Given the description of an element on the screen output the (x, y) to click on. 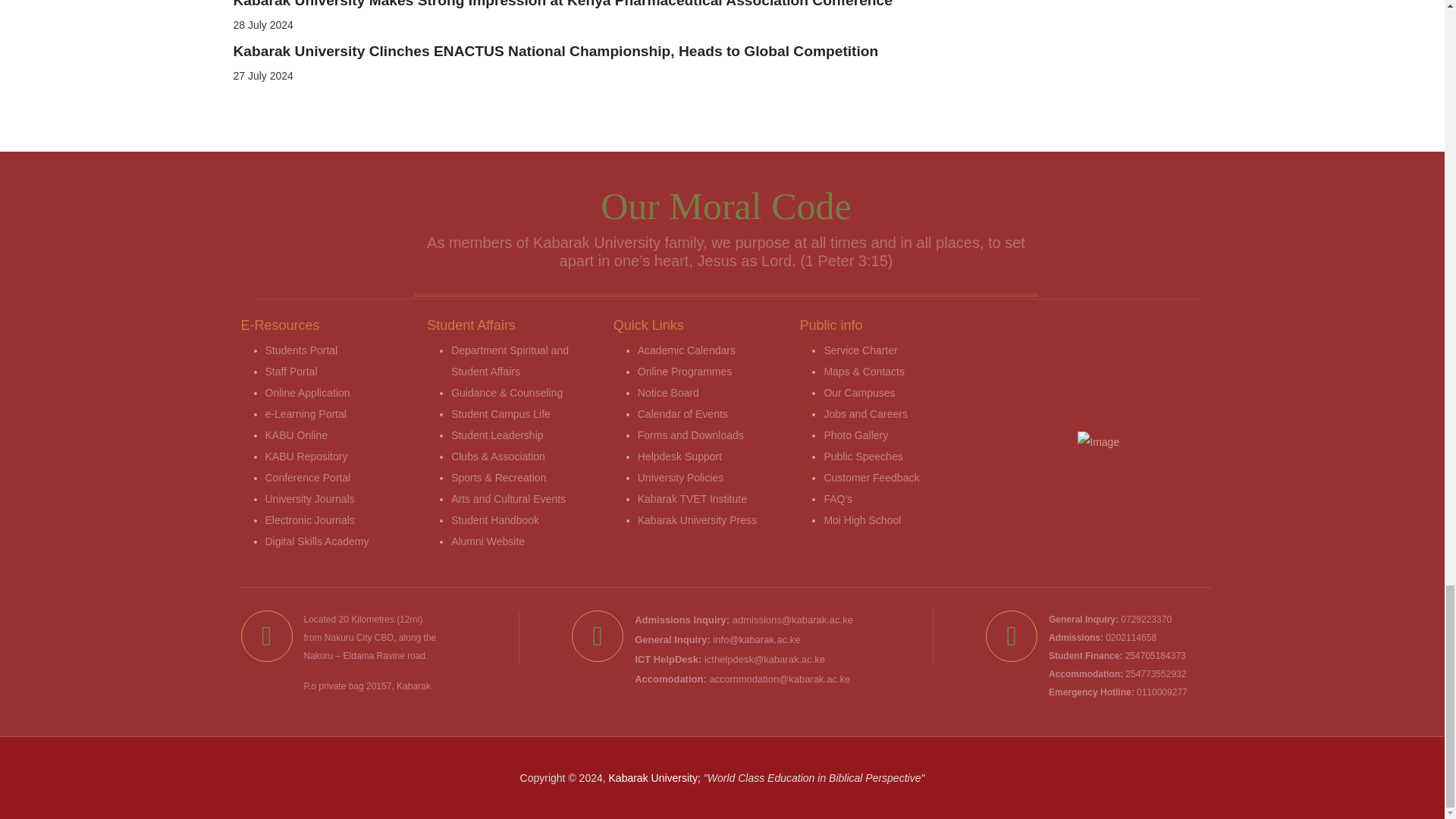
Published: 27 July 2024 (263, 75)
Eldama Ravine (373, 655)
Nakuru is the fourth largest City in Kenya (348, 637)
Published: 28 July 2024 (263, 24)
